Given the description of an element on the screen output the (x, y) to click on. 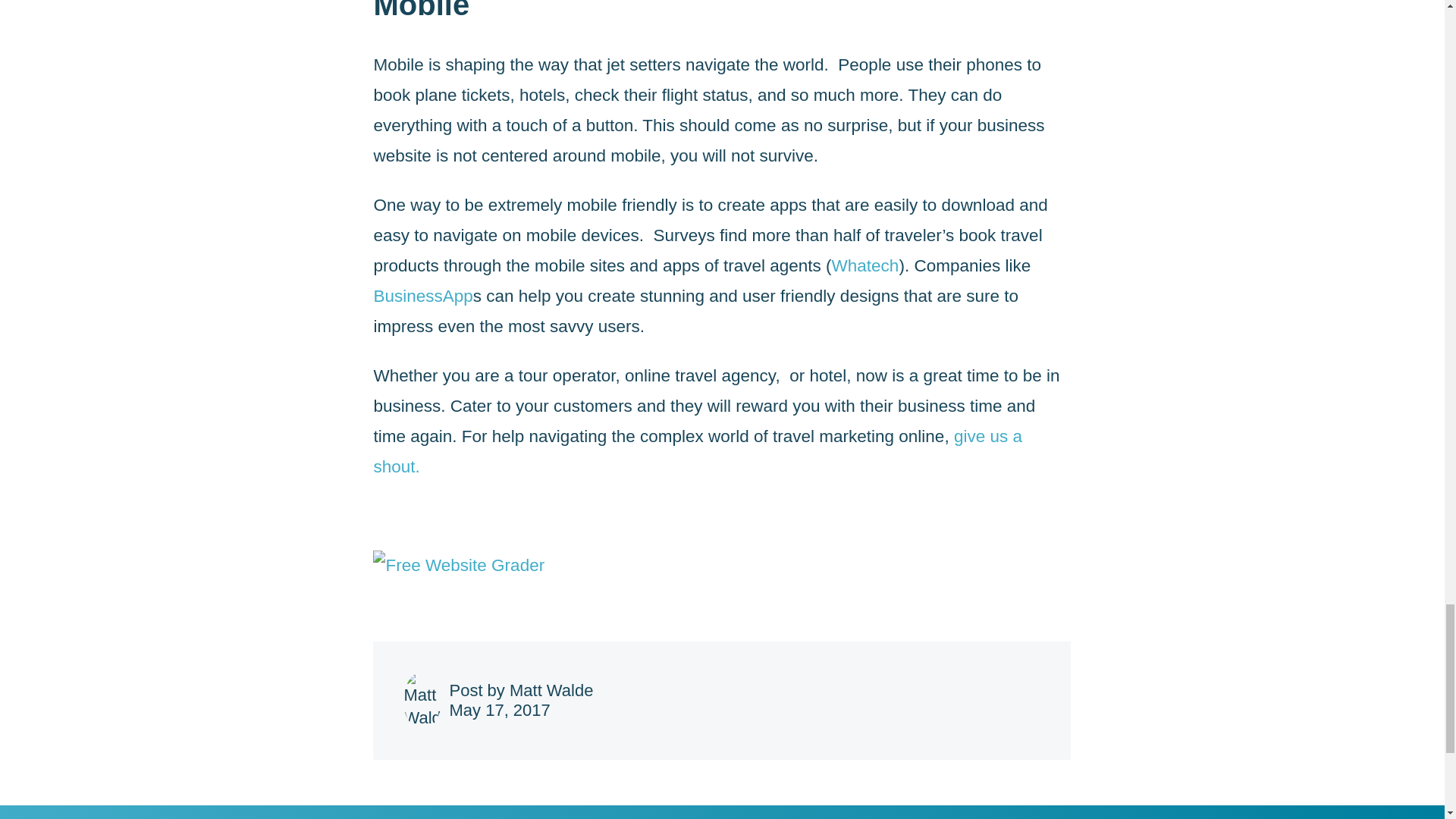
Whatech (865, 265)
give us a shout.  (697, 450)
BusinessApp (421, 295)
